Given the description of an element on the screen output the (x, y) to click on. 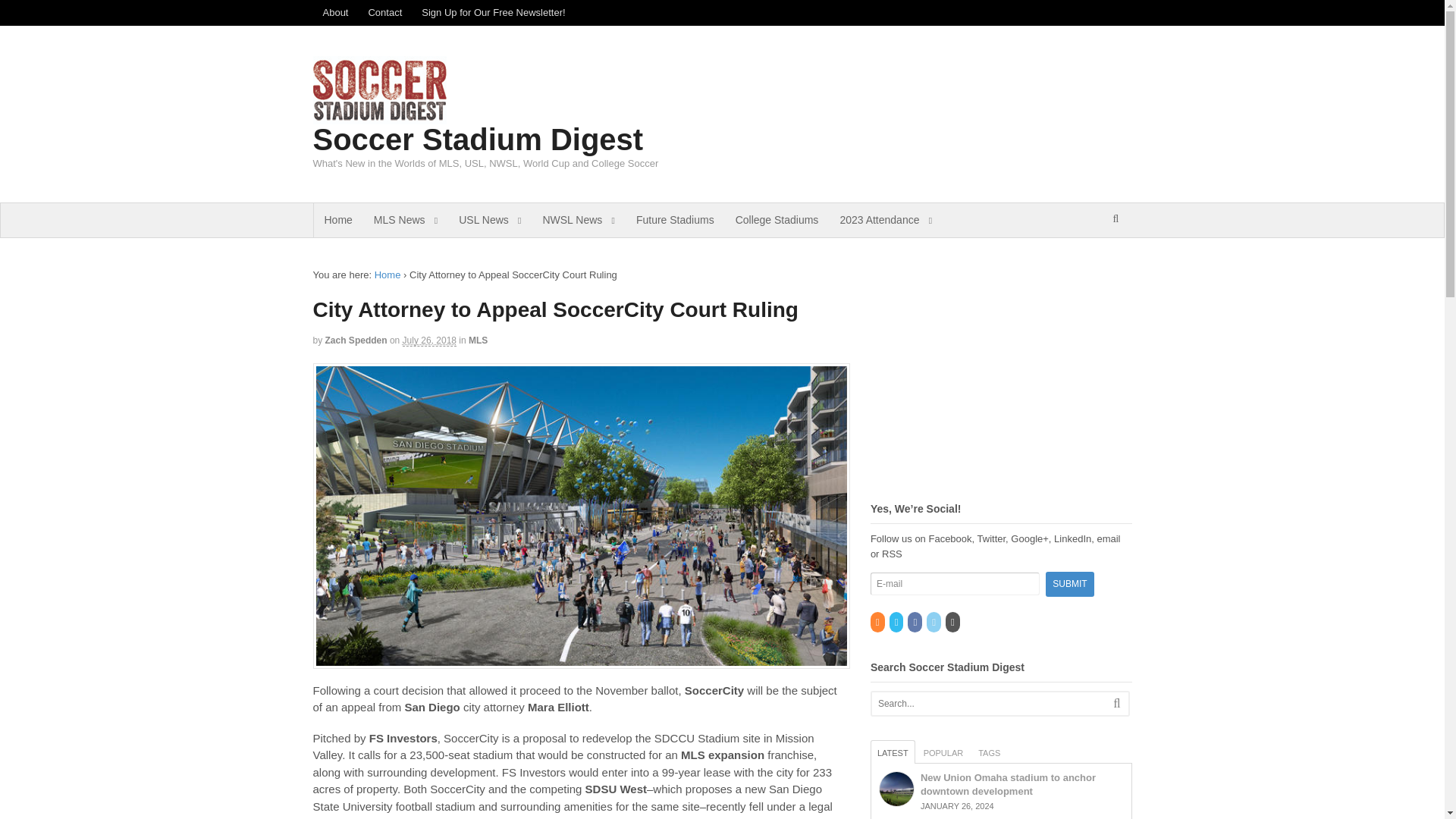
Future Stadiums (675, 220)
Soccer Stadium Digest (478, 139)
RSS (878, 622)
2023 Attendance (885, 220)
MLS (477, 339)
2018-07-26T16:20:52-0500 (430, 340)
Search (1117, 257)
Submit (1069, 584)
Contact (385, 12)
Posts by Zach Spedden (355, 339)
Facebook (915, 622)
Zach Spedden (355, 339)
E-mail (954, 583)
About (335, 12)
Home (387, 274)
